Given the description of an element on the screen output the (x, y) to click on. 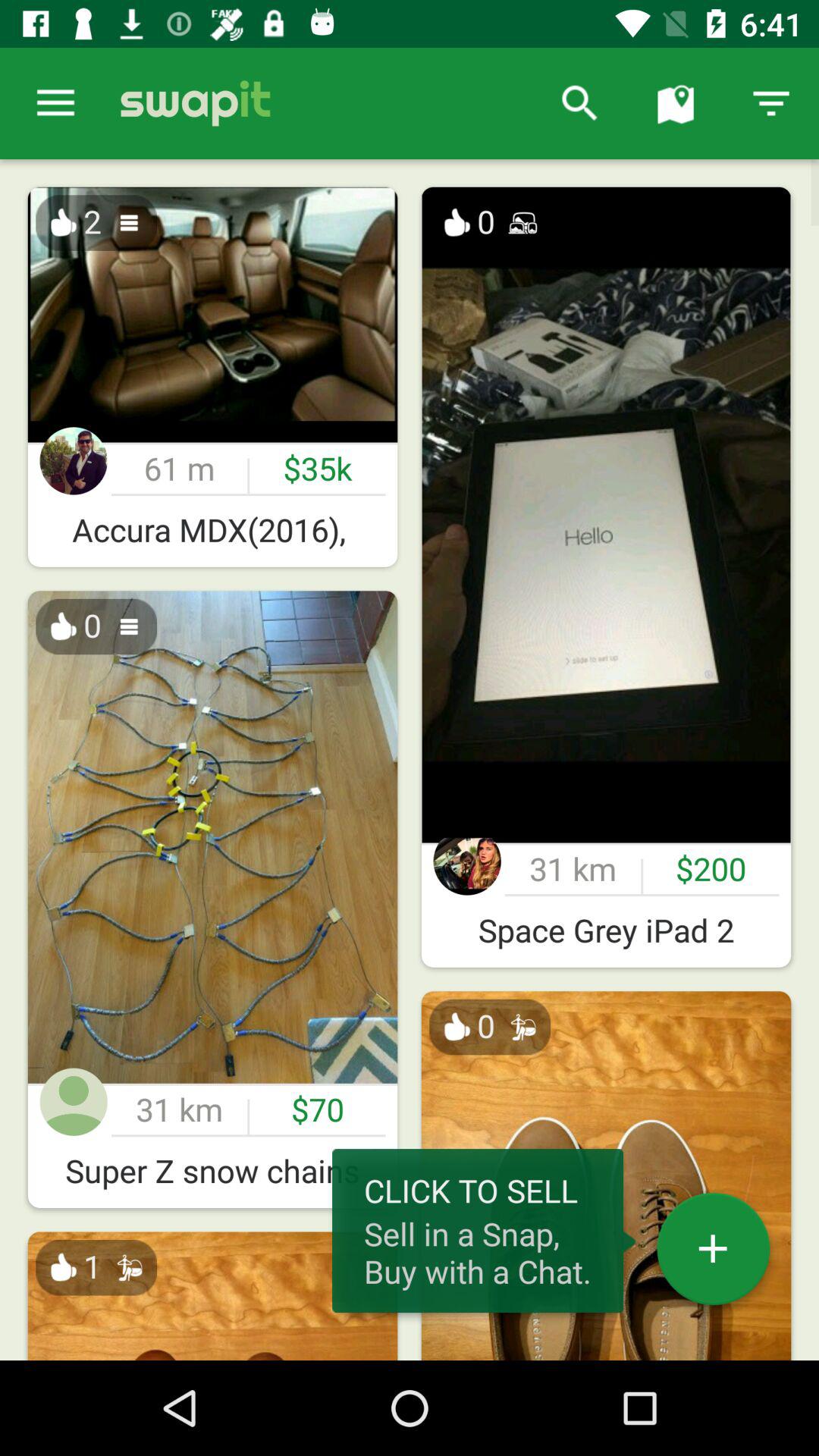
click item to the right of the it item (579, 103)
